Given the description of an element on the screen output the (x, y) to click on. 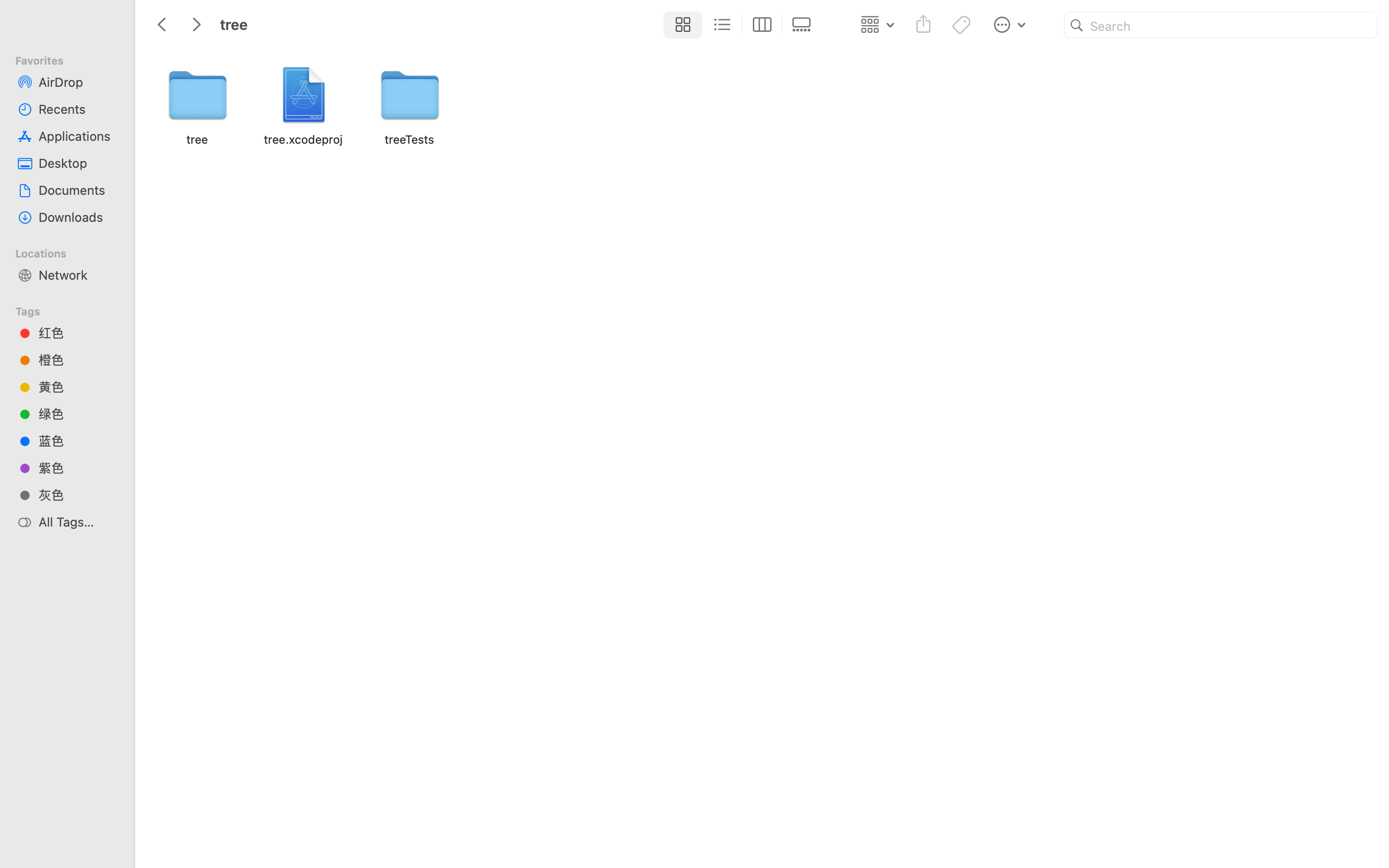
Tags… Element type: AXStaticText (20, 860)
灰色 Element type: AXStaticText (77, 494)
0 Element type: AXRadioButton (804, 24)
1 Element type: AXRadioButton (680, 24)
Downloads Element type: AXStaticText (77, 216)
